Given the description of an element on the screen output the (x, y) to click on. 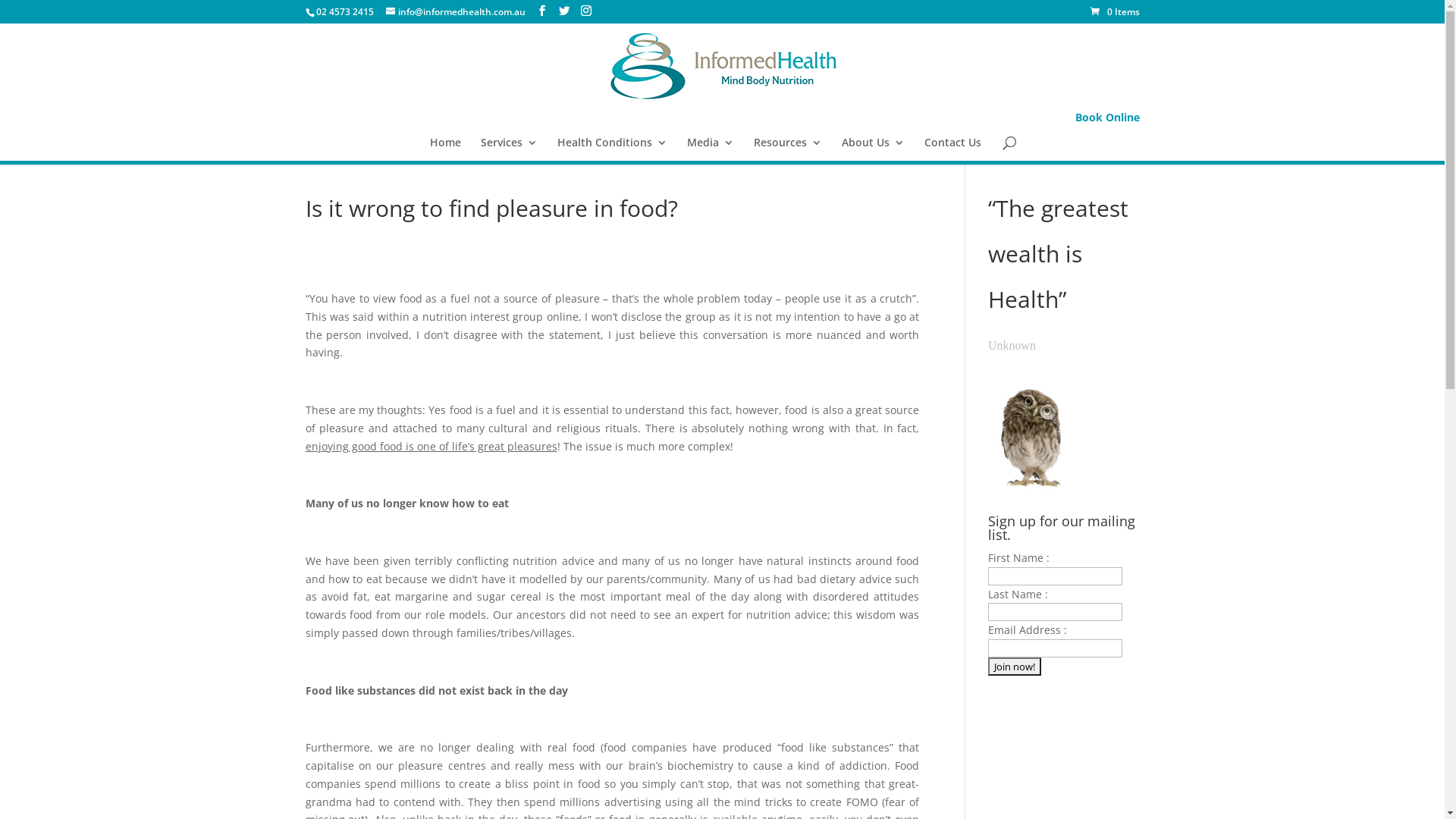
Fotolia_25799805_XS Element type: hover (1033, 434)
Contact Us Element type: text (952, 148)
info@informedhealth.com.au Element type: text (454, 11)
Media Element type: text (710, 148)
Services Element type: text (508, 148)
Health Conditions Element type: text (612, 148)
Resources Element type: text (787, 148)
About Us Element type: text (872, 148)
Home Element type: text (445, 148)
0 Items Element type: text (1114, 11)
Book Online Element type: text (1107, 116)
Join now! Element type: text (1014, 666)
02 4573 2415 Element type: text (343, 11)
